Given the description of an element on the screen output the (x, y) to click on. 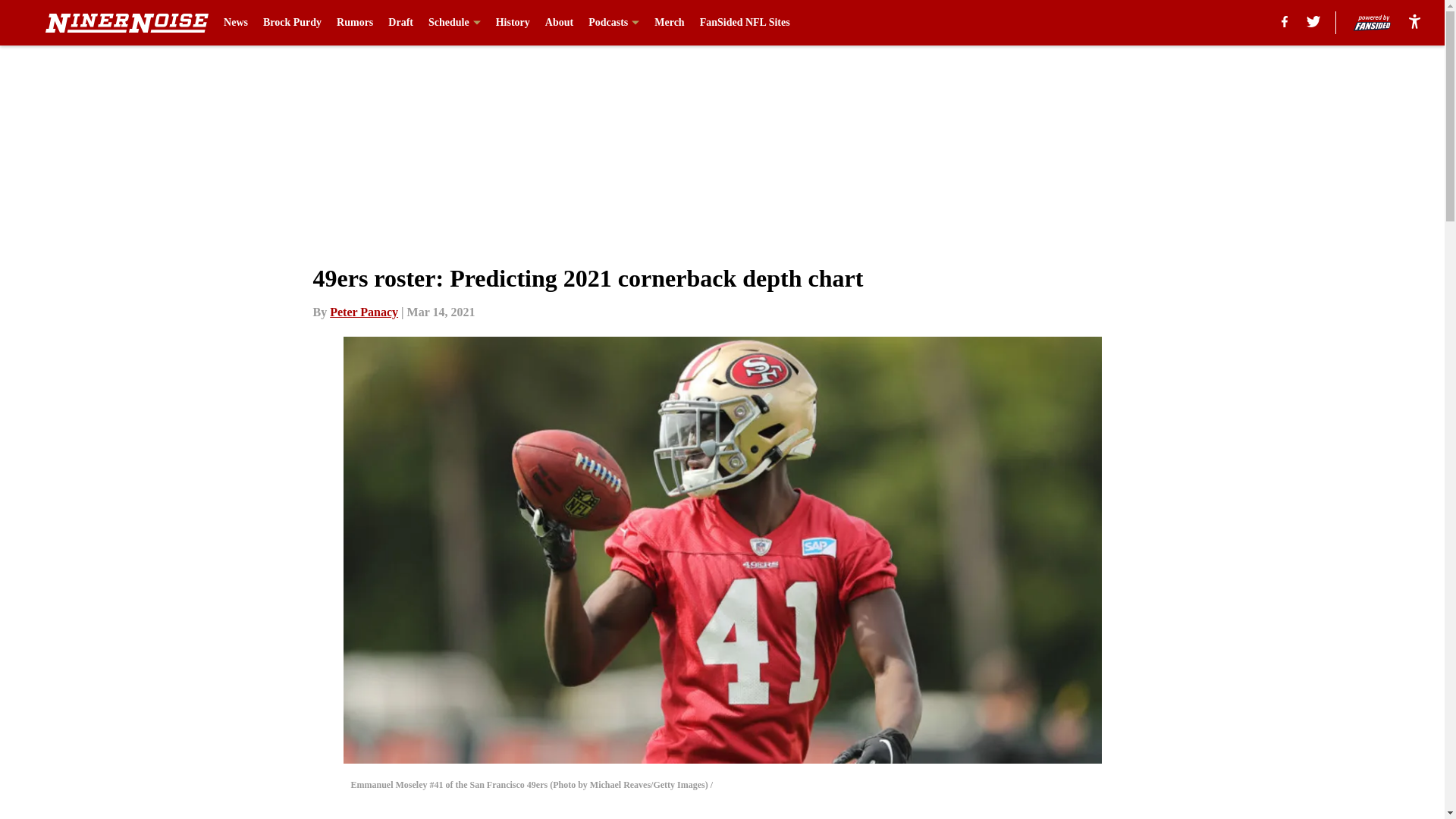
Rumors (354, 22)
News (235, 22)
Merch (668, 22)
Brock Purdy (292, 22)
Peter Panacy (363, 311)
About (558, 22)
History (512, 22)
Draft (400, 22)
FanSided NFL Sites (745, 22)
